Given the description of an element on the screen output the (x, y) to click on. 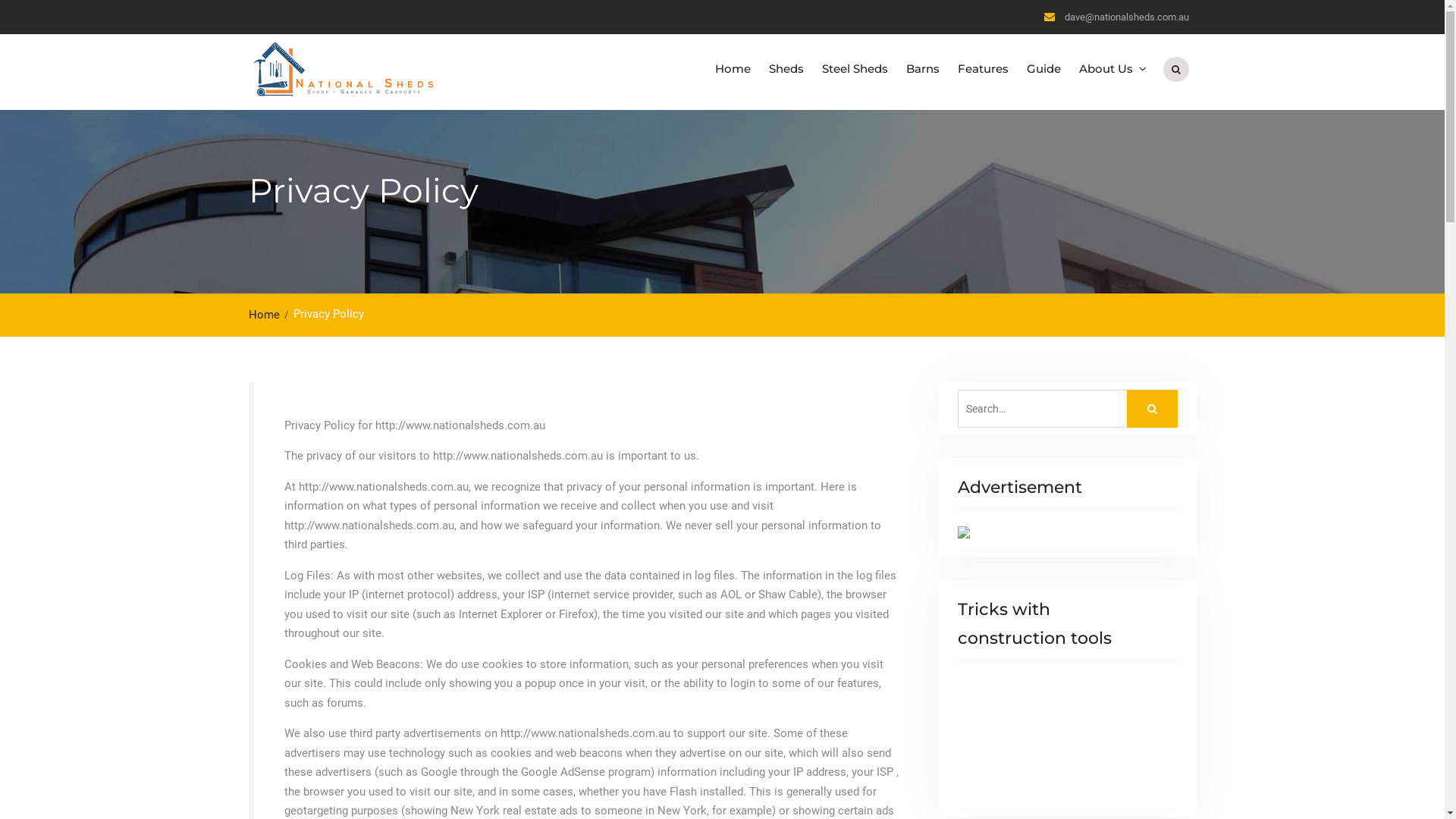
Guide Element type: text (1043, 68)
Search for: Element type: hover (1066, 408)
Home Element type: text (268, 314)
Steel Sheds Element type: text (854, 68)
Sheds Element type: text (785, 68)
Barns Element type: text (921, 68)
About Us Element type: text (1110, 68)
Features Element type: text (981, 68)
dave@nationalsheds.com.au Element type: text (1126, 17)
Home Element type: text (732, 68)
